Given the description of an element on the screen output the (x, y) to click on. 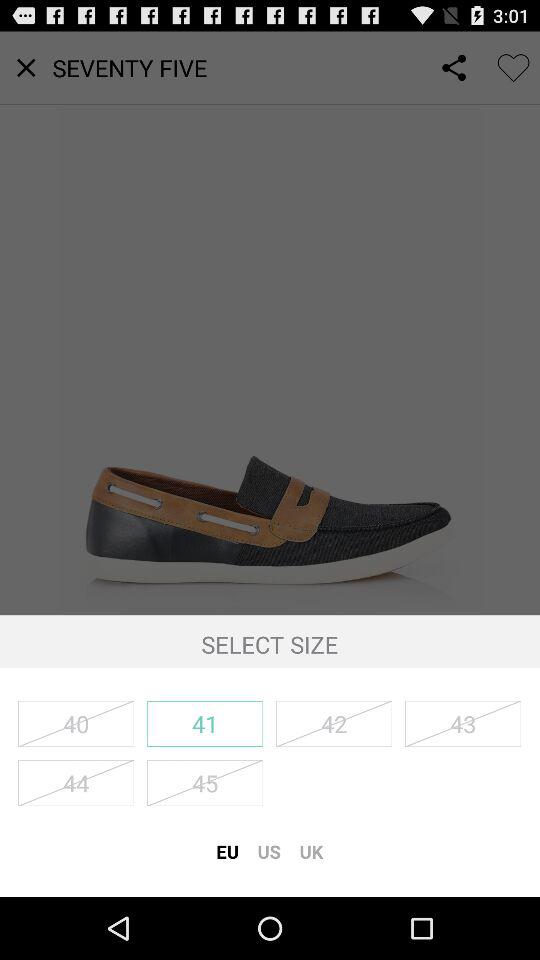
select icon next to us icon (227, 851)
